Given the description of an element on the screen output the (x, y) to click on. 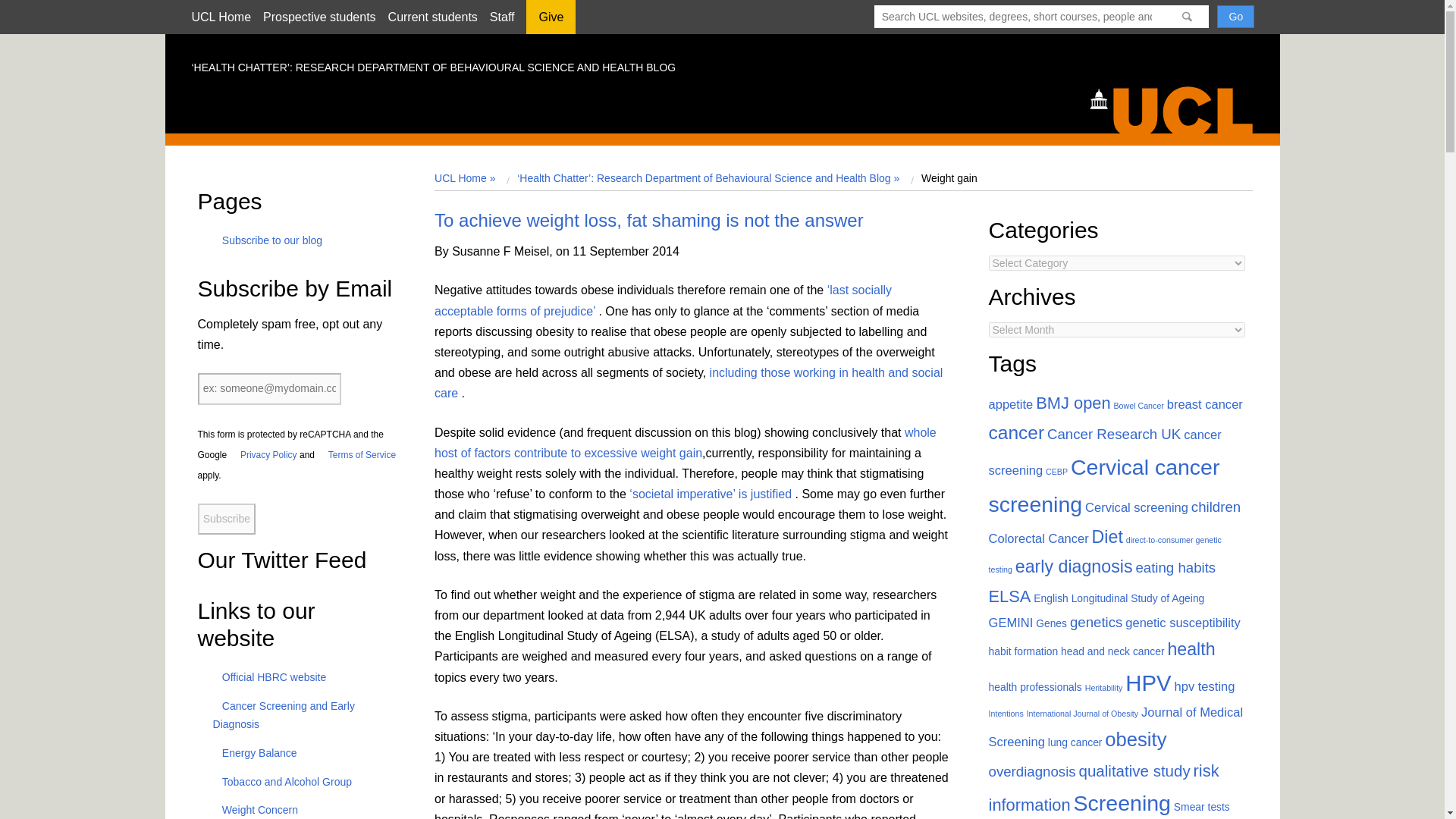
Go (1235, 15)
Subscribe to our blog (267, 240)
Home (1178, 108)
including those working in health and social care (687, 382)
Give (550, 22)
Tobacco and Alcohol Group (282, 781)
Current students (432, 16)
Prospective students (319, 16)
Privacy Policy (263, 454)
UCL Home (220, 16)
Go (1235, 15)
Cancer Screening and Early Diagnosis (283, 715)
Weight Concern (255, 809)
Staff (502, 16)
